Given the description of an element on the screen output the (x, y) to click on. 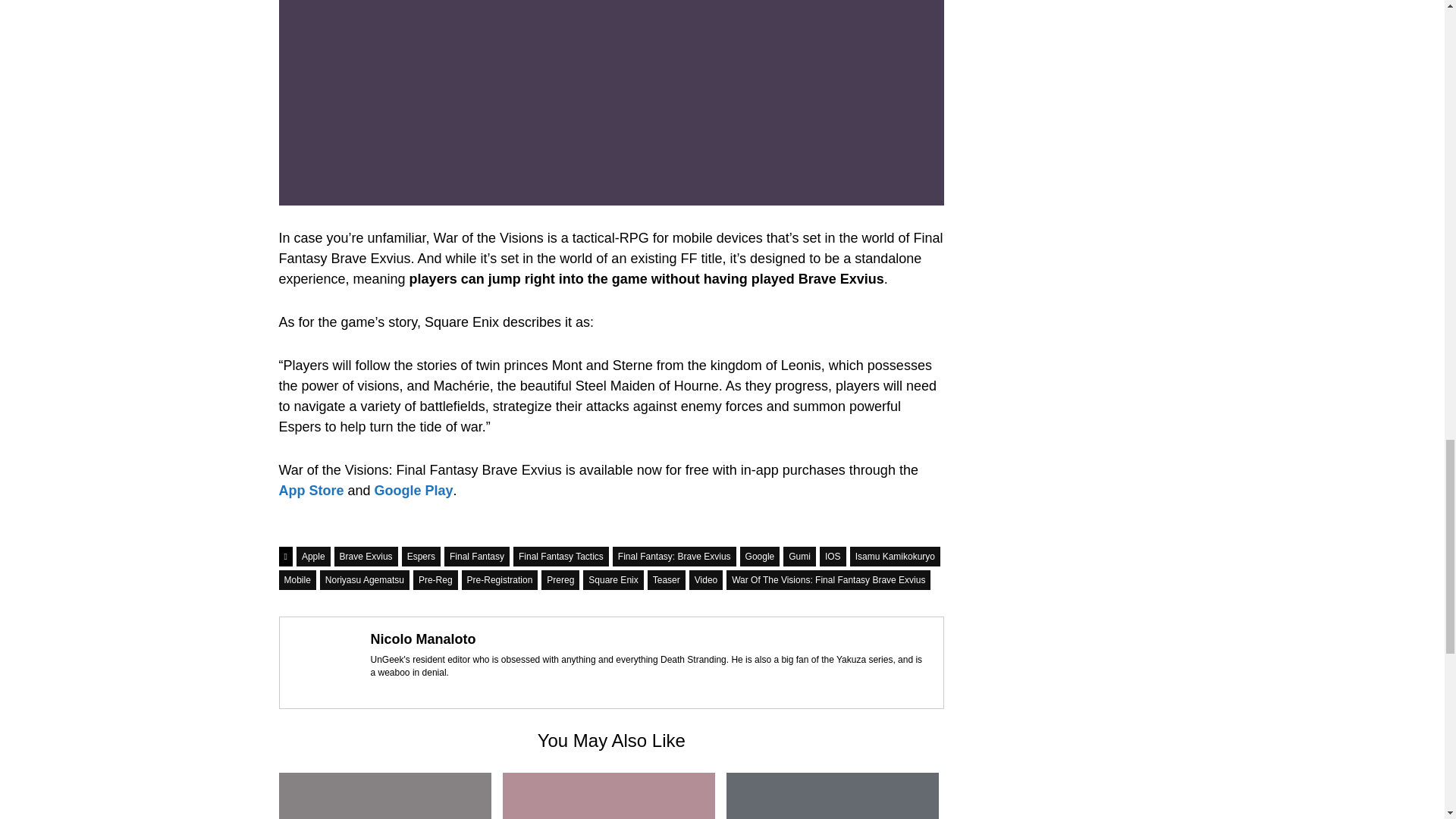
Final Fantasy (476, 556)
Noriyasu Agematsu (364, 579)
Final Fantasy: Brave Exvius (674, 556)
Google (759, 556)
App Store (313, 490)
Google Play (413, 490)
Mobile (297, 579)
Final Fantasy Tactics (560, 556)
Brave Exvius (365, 556)
Gumi (799, 556)
